Given the description of an element on the screen output the (x, y) to click on. 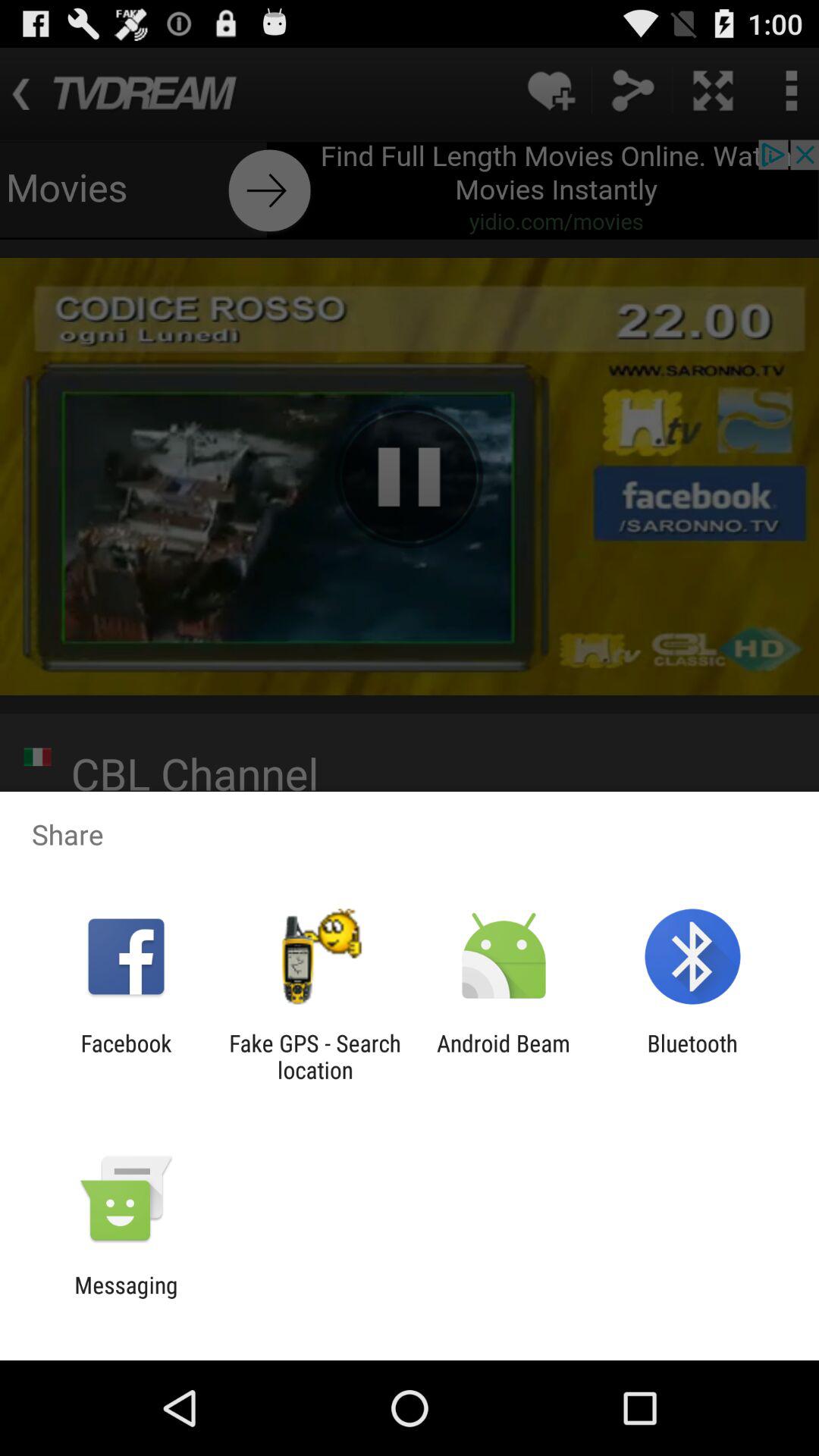
click icon to the right of the fake gps search app (503, 1056)
